Given the description of an element on the screen output the (x, y) to click on. 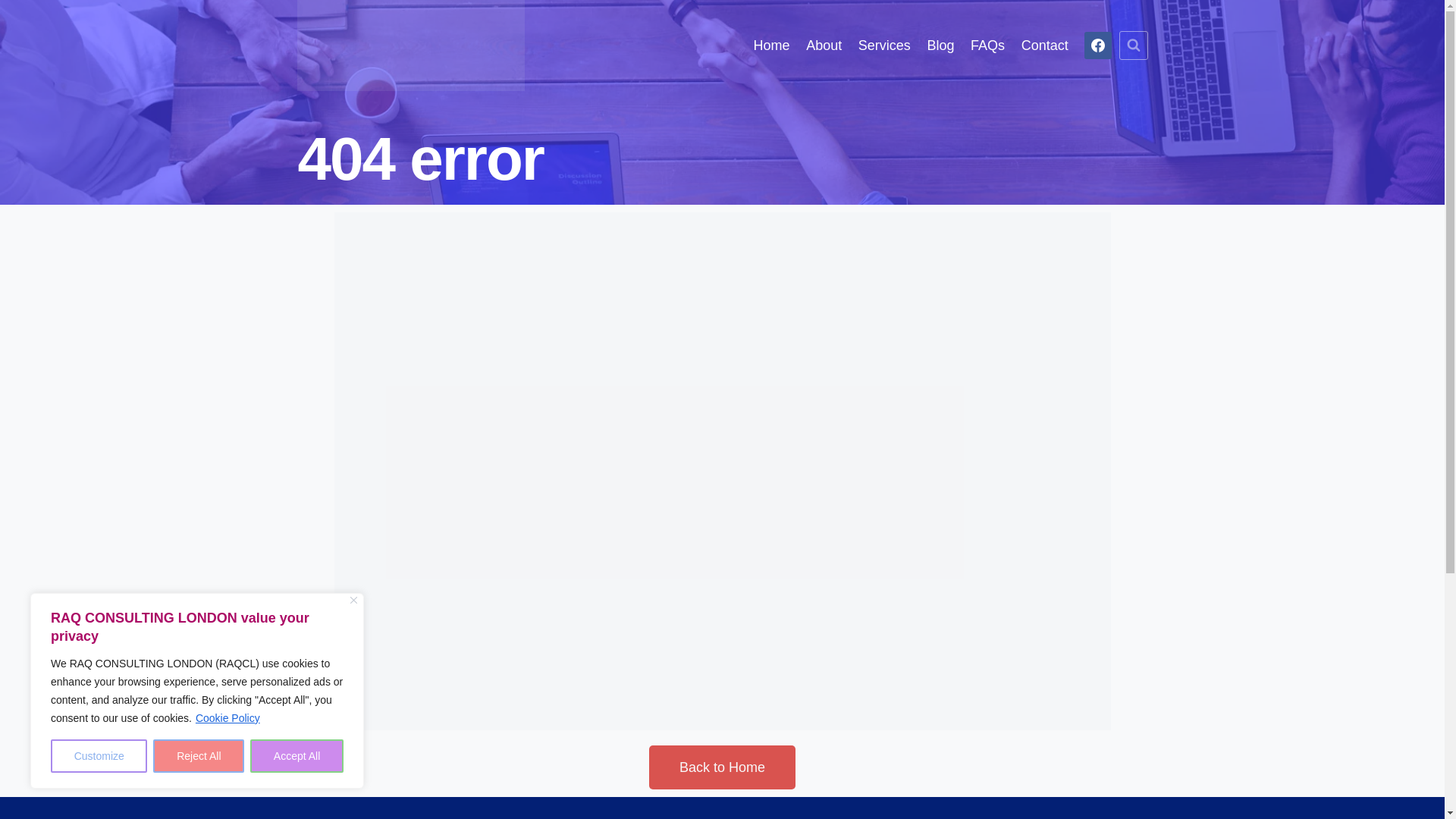
Blog (940, 44)
Home (771, 44)
Contact (1045, 44)
About (823, 44)
Customize (98, 756)
Cookie Policy (227, 717)
FAQs (987, 44)
Reject All (198, 756)
Accept All (296, 756)
Services (884, 44)
